Given the description of an element on the screen output the (x, y) to click on. 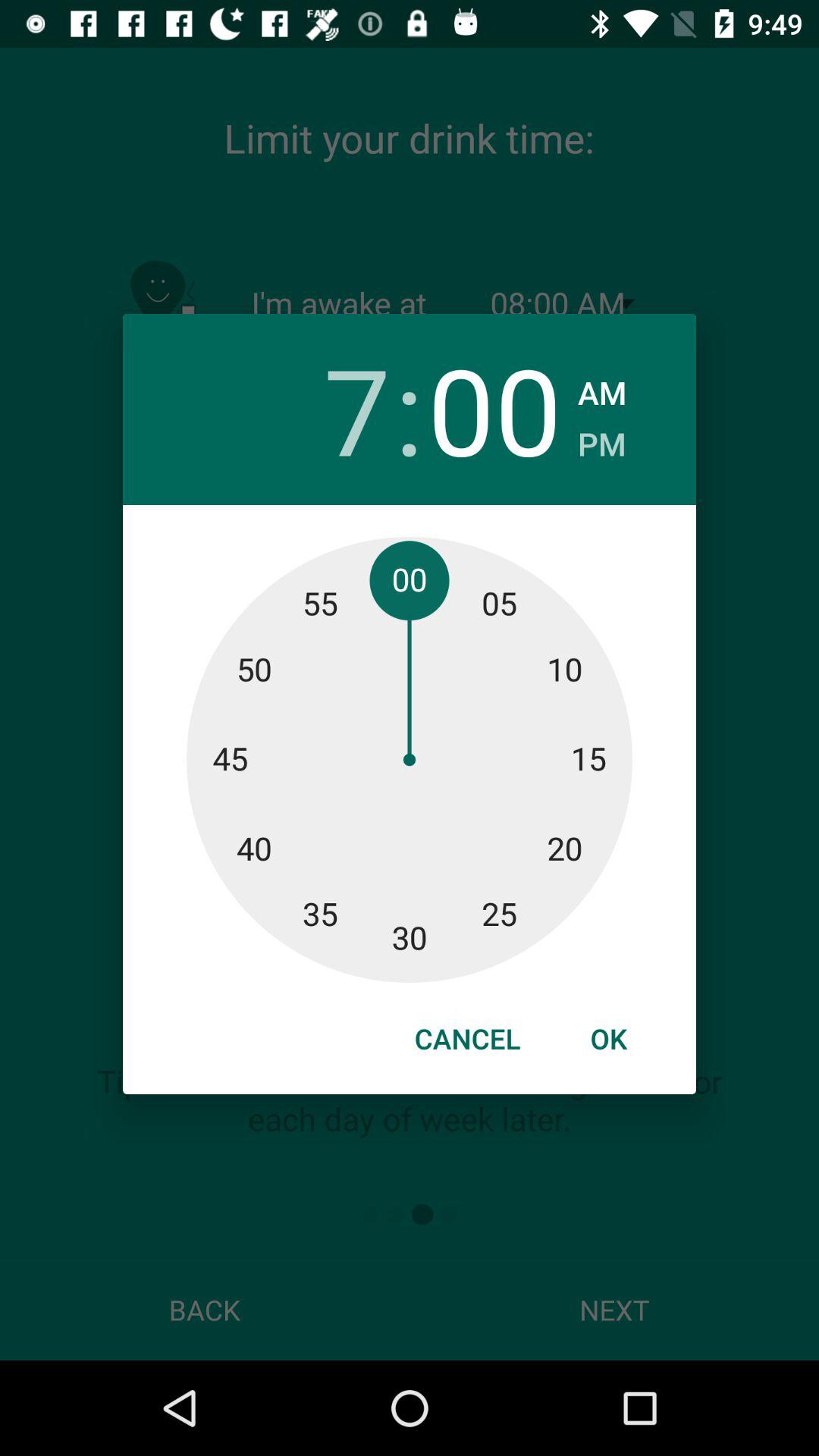
turn on the icon at the bottom right corner (608, 1038)
